Given the description of an element on the screen output the (x, y) to click on. 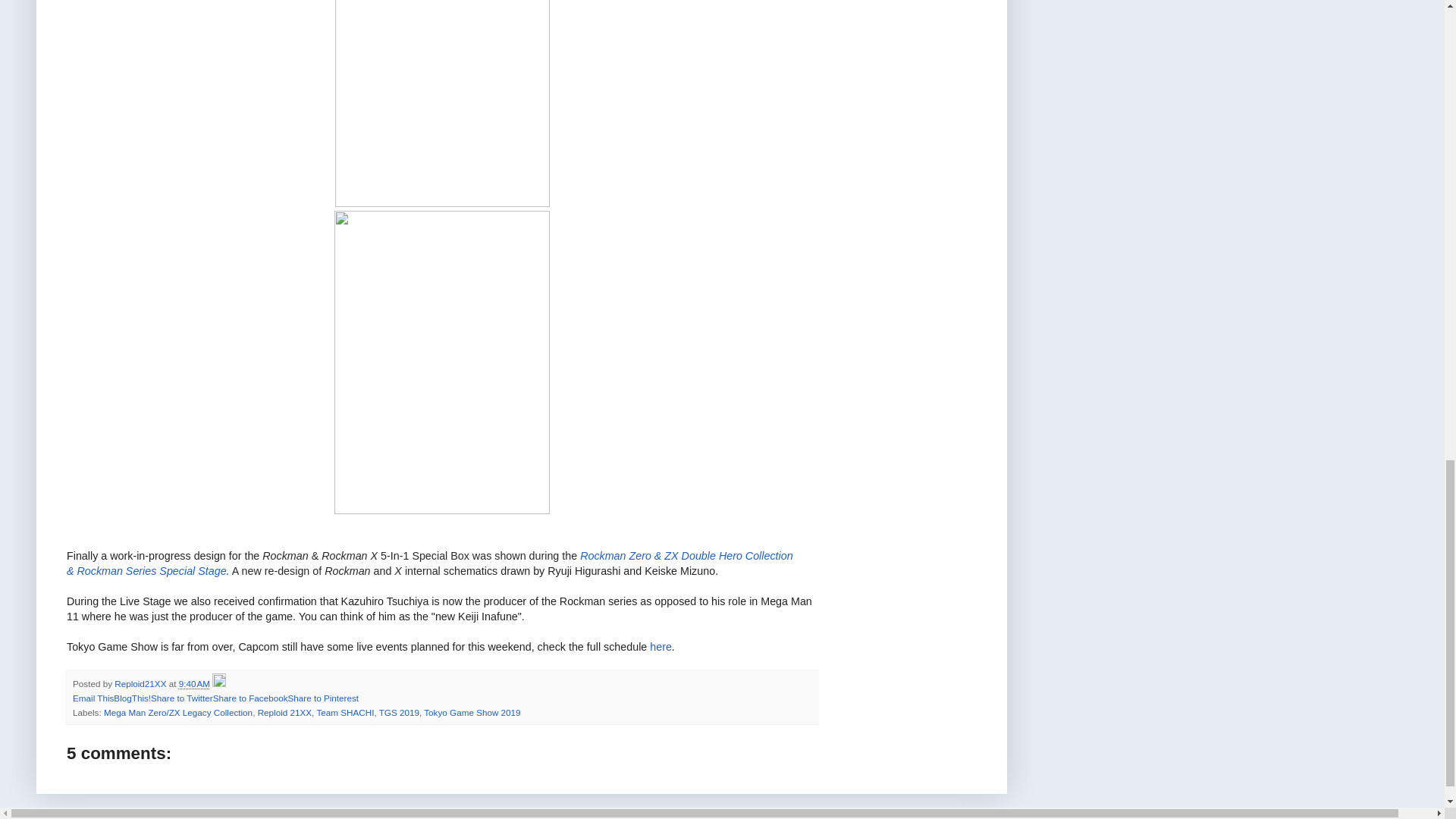
Share to Twitter (181, 697)
Share to Pinterest (322, 697)
Share to Pinterest (322, 697)
Share to Facebook (250, 697)
Email This (92, 697)
BlogThis! (132, 697)
Reploid21XX (141, 683)
Rockman Series Special Stage (152, 571)
Share to Facebook (250, 697)
permanent link (194, 683)
